Given the description of an element on the screen output the (x, y) to click on. 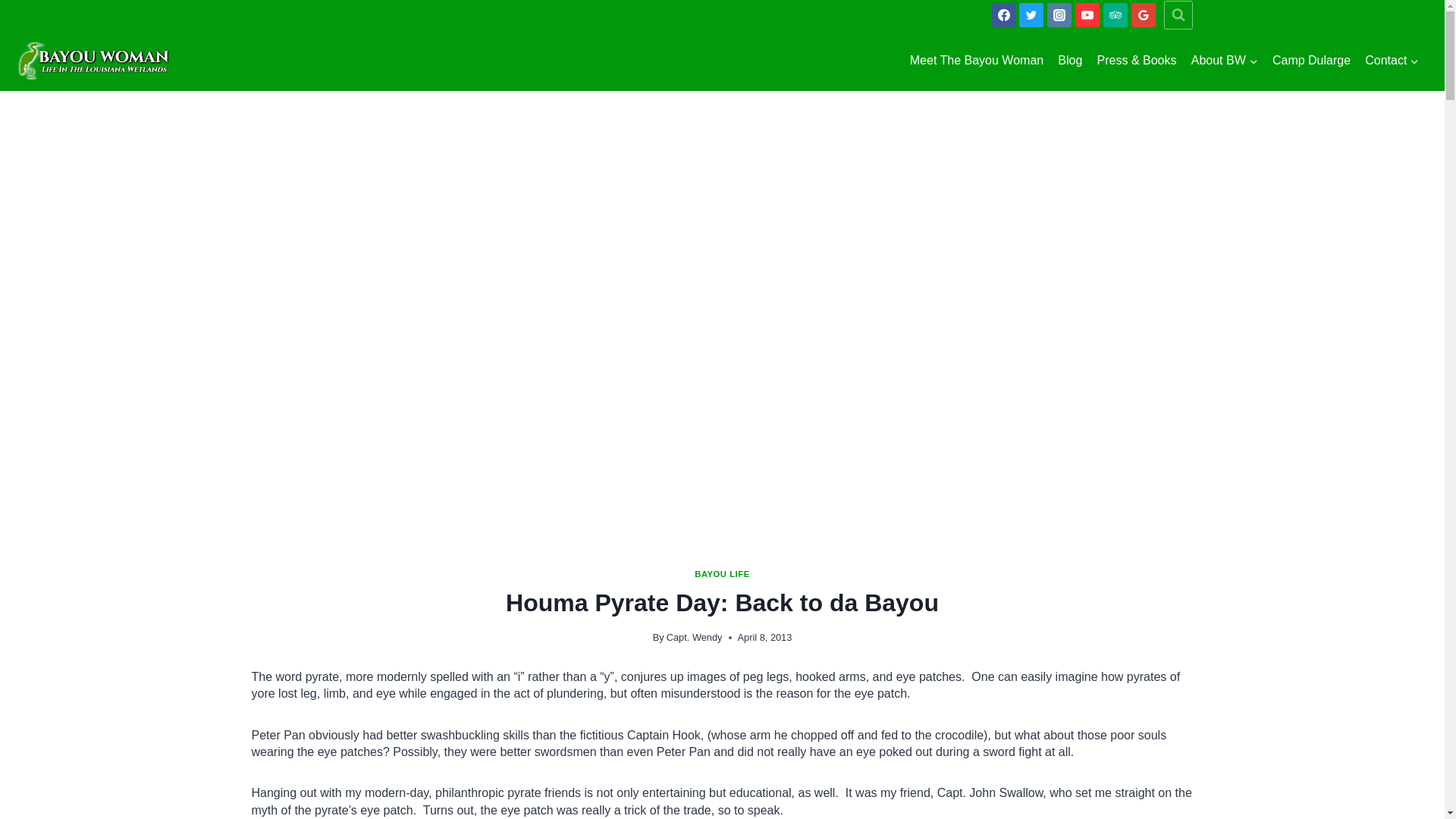
Contact (1392, 60)
Meet The Bayou Woman (976, 60)
BAYOU LIFE (721, 573)
Capt. Wendy (694, 636)
Camp Dularge (1310, 60)
About BW (1224, 60)
Blog (1070, 60)
